Given the description of an element on the screen output the (x, y) to click on. 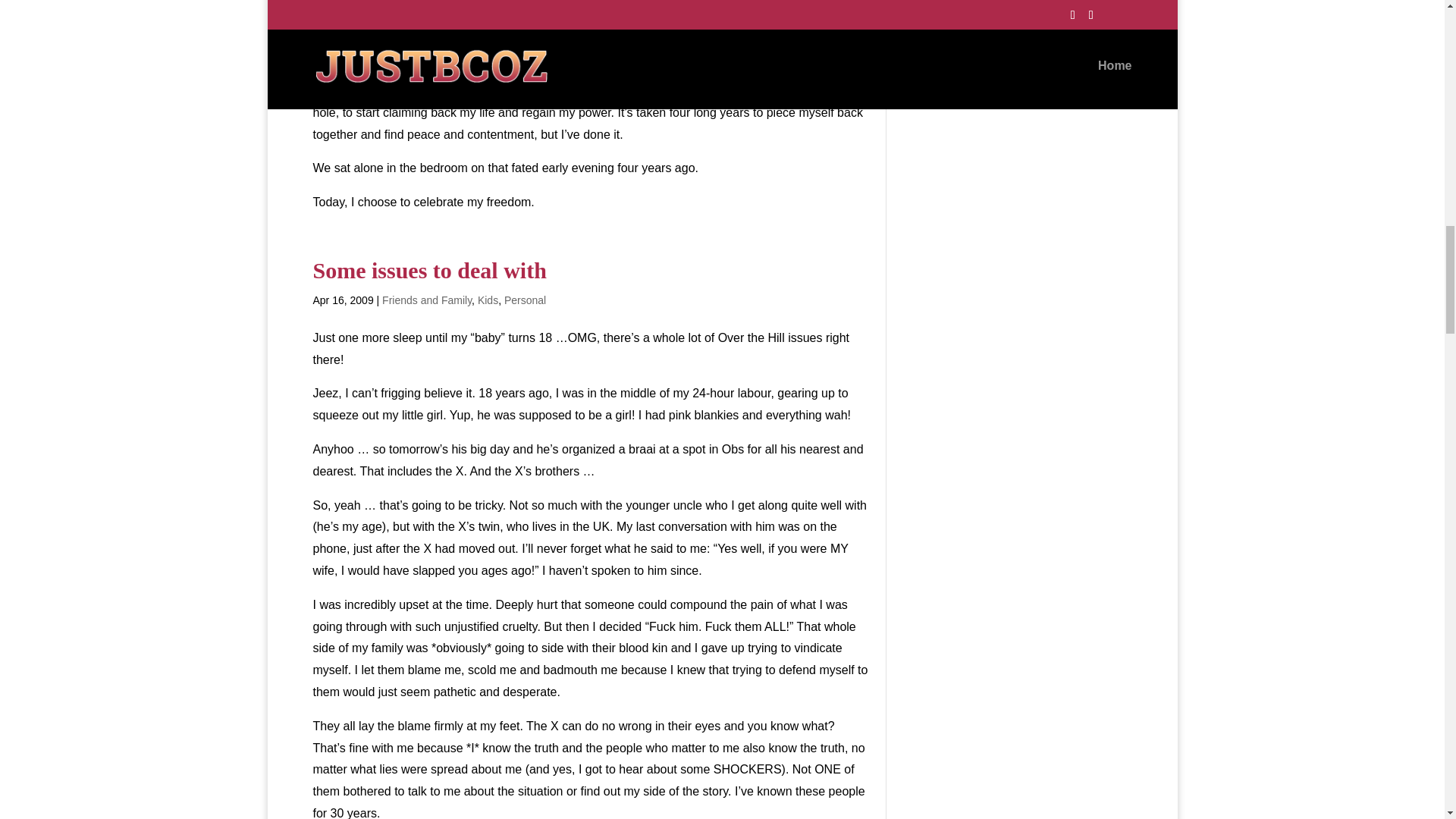
Friends and Family (426, 300)
Personal (524, 300)
Some issues to deal with (429, 269)
Kids (487, 300)
